Given the description of an element on the screen output the (x, y) to click on. 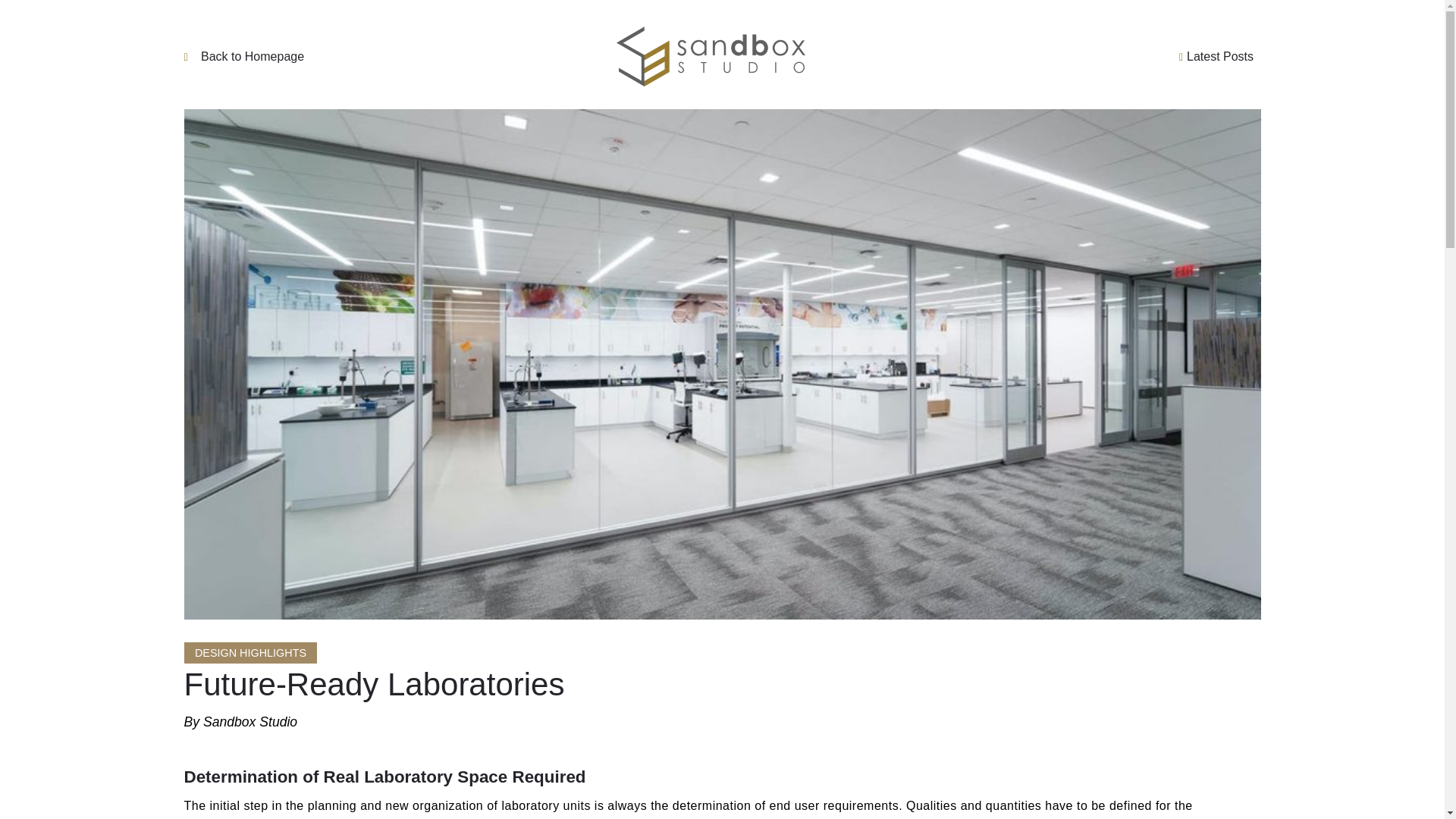
Latest Posts (1124, 56)
DESIGN HIGHLIGHTS (250, 653)
Back to Homepage (312, 56)
